Given the description of an element on the screen output the (x, y) to click on. 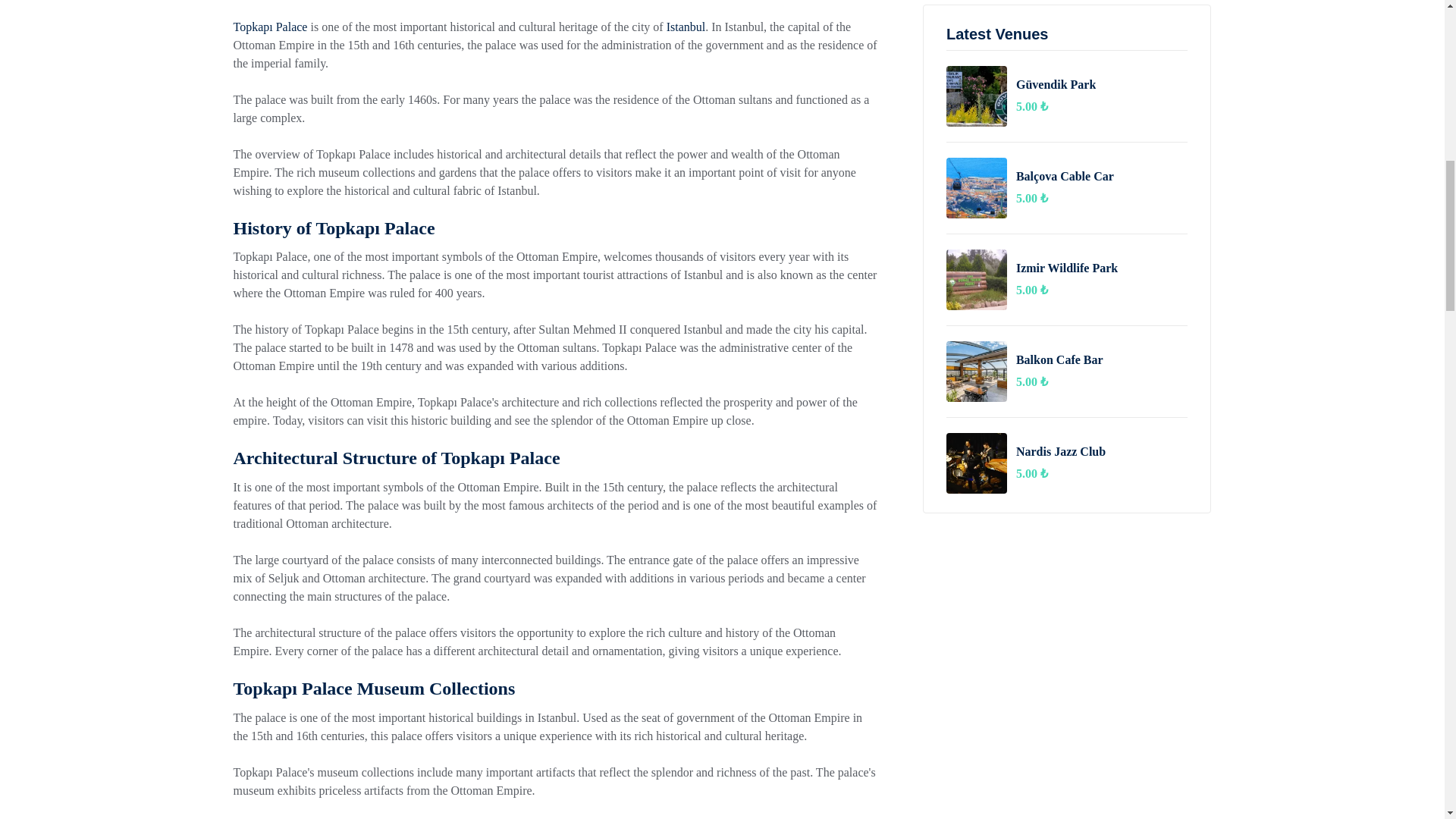
Istanbul (686, 26)
